Given the description of an element on the screen output the (x, y) to click on. 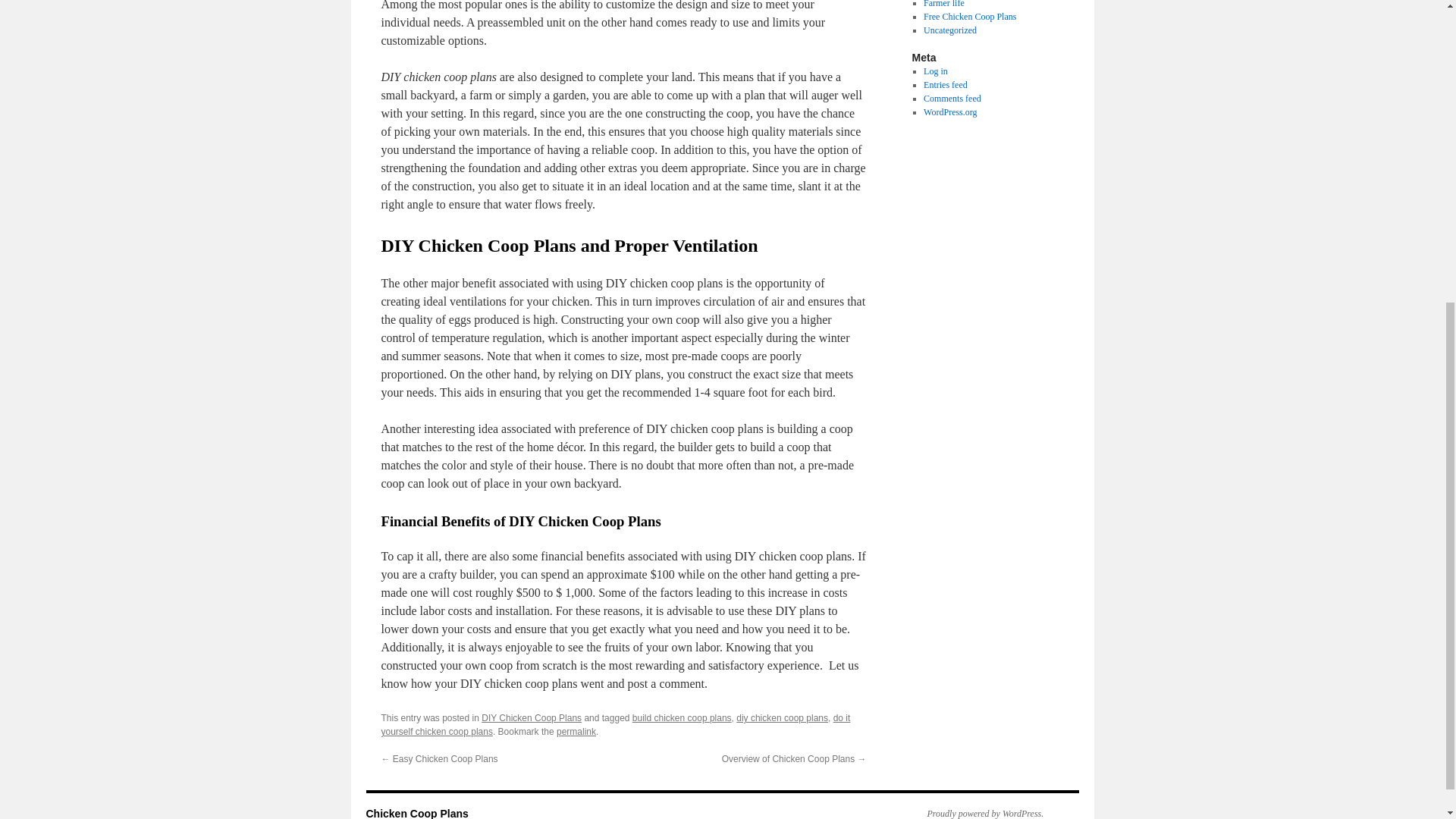
Farmer life (943, 4)
Free Chicken Coop Plans (969, 16)
build chicken coop plans (681, 717)
permalink (575, 731)
Uncategorized (949, 30)
WordPress.org (949, 112)
Permalink to DIY Chicken Coop Plans: Why You Need To Use One (575, 731)
diy chicken coop plans (782, 717)
Log in (935, 71)
Comments feed (952, 98)
